Given the description of an element on the screen output the (x, y) to click on. 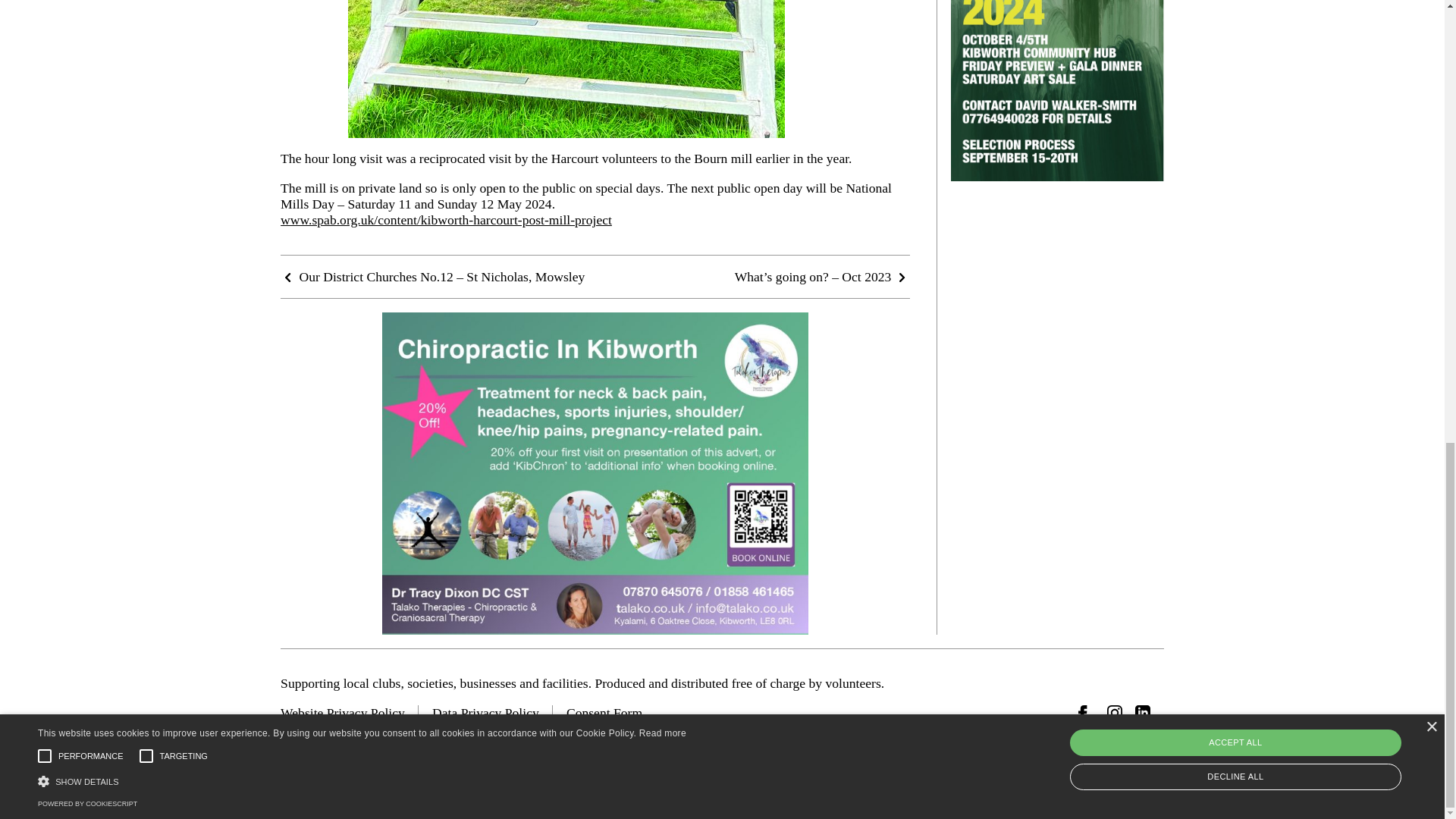
Follow us on Instagram (1114, 712)
Connect with us on LinkedIn (1142, 712)
Like us on Facebook (1085, 712)
